Given the description of an element on the screen output the (x, y) to click on. 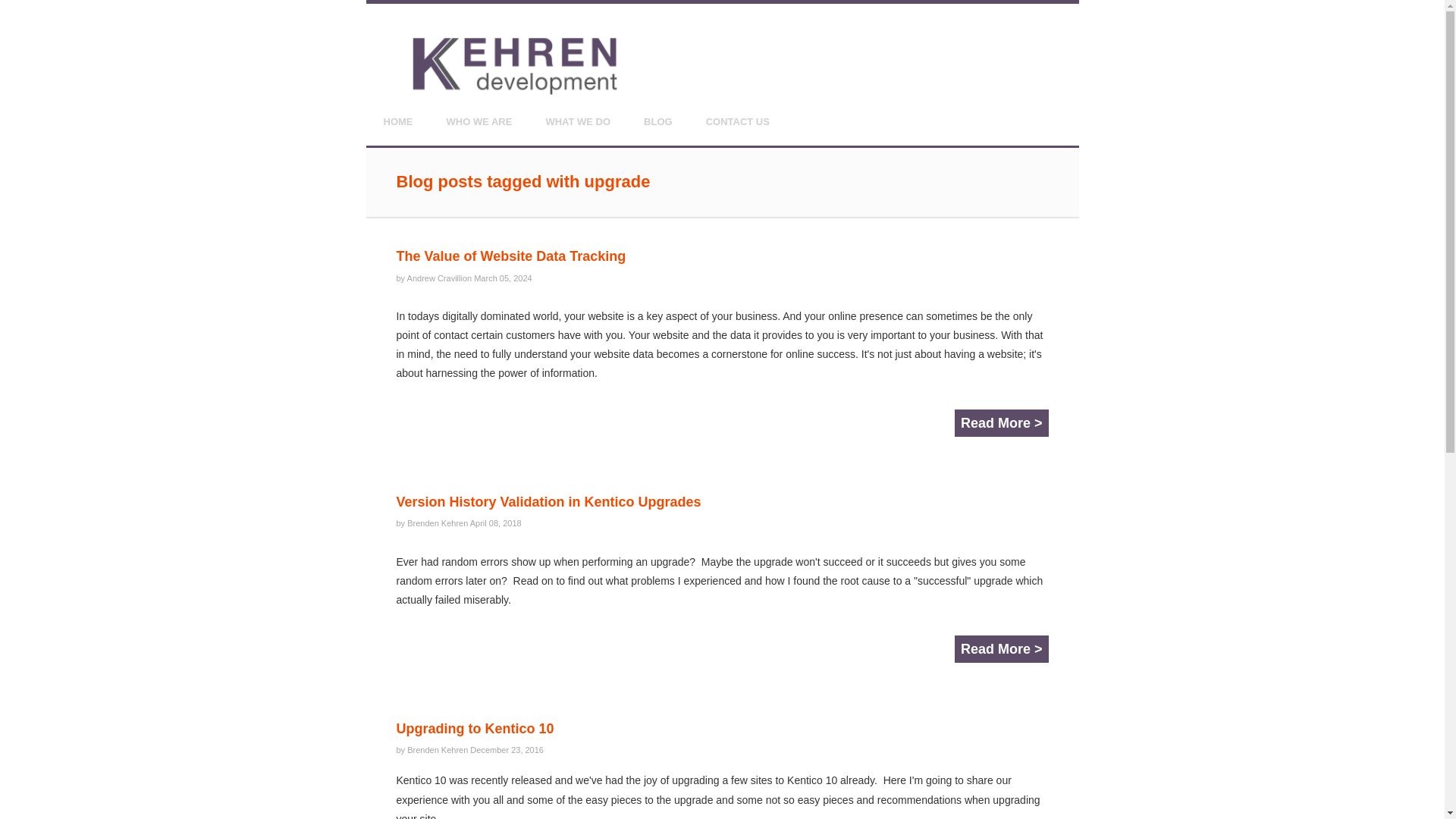
HOME (397, 121)
WHAT WE DO (577, 121)
Version History Validation in Kentico Upgrades (548, 501)
BLOG (657, 121)
The Value of Website Data Tracking (511, 255)
WHO WE ARE (479, 121)
Upgrading to Kentico 10 (474, 728)
CONTACT US (738, 121)
